Given the description of an element on the screen output the (x, y) to click on. 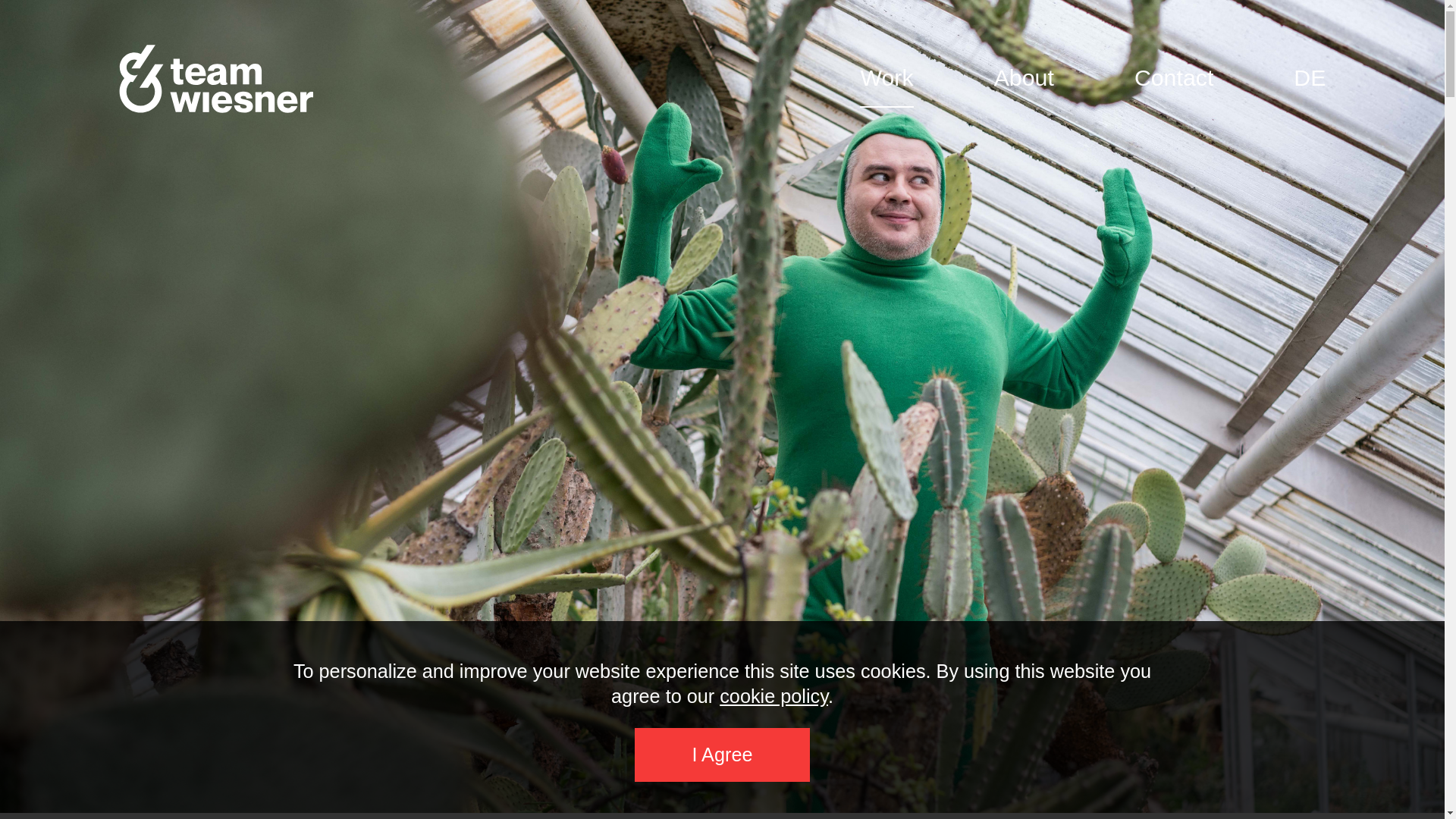
cookie policy (773, 695)
I Agree (722, 755)
About (1024, 78)
Team Wiesner (216, 79)
Contact (1173, 78)
Work (886, 78)
